Given the description of an element on the screen output the (x, y) to click on. 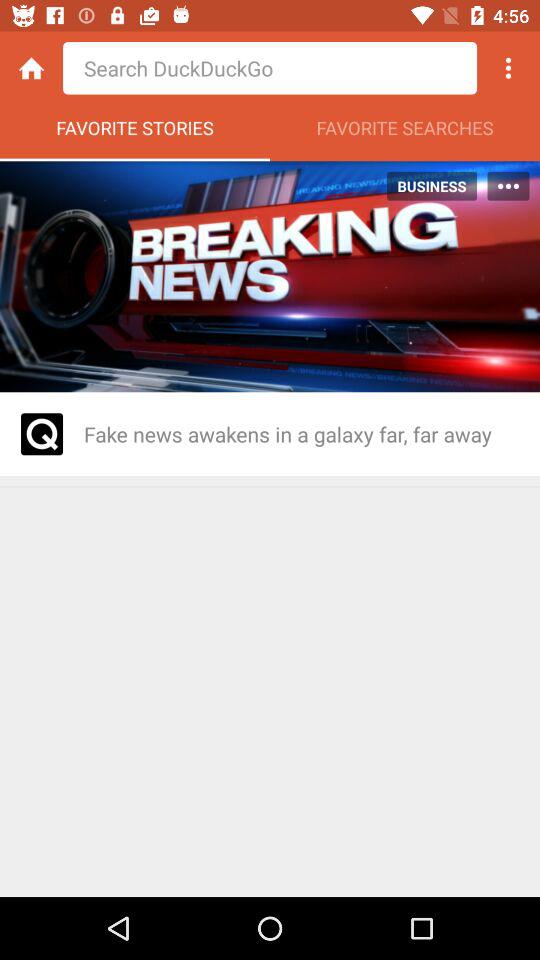
open selected article (42, 434)
